Given the description of an element on the screen output the (x, y) to click on. 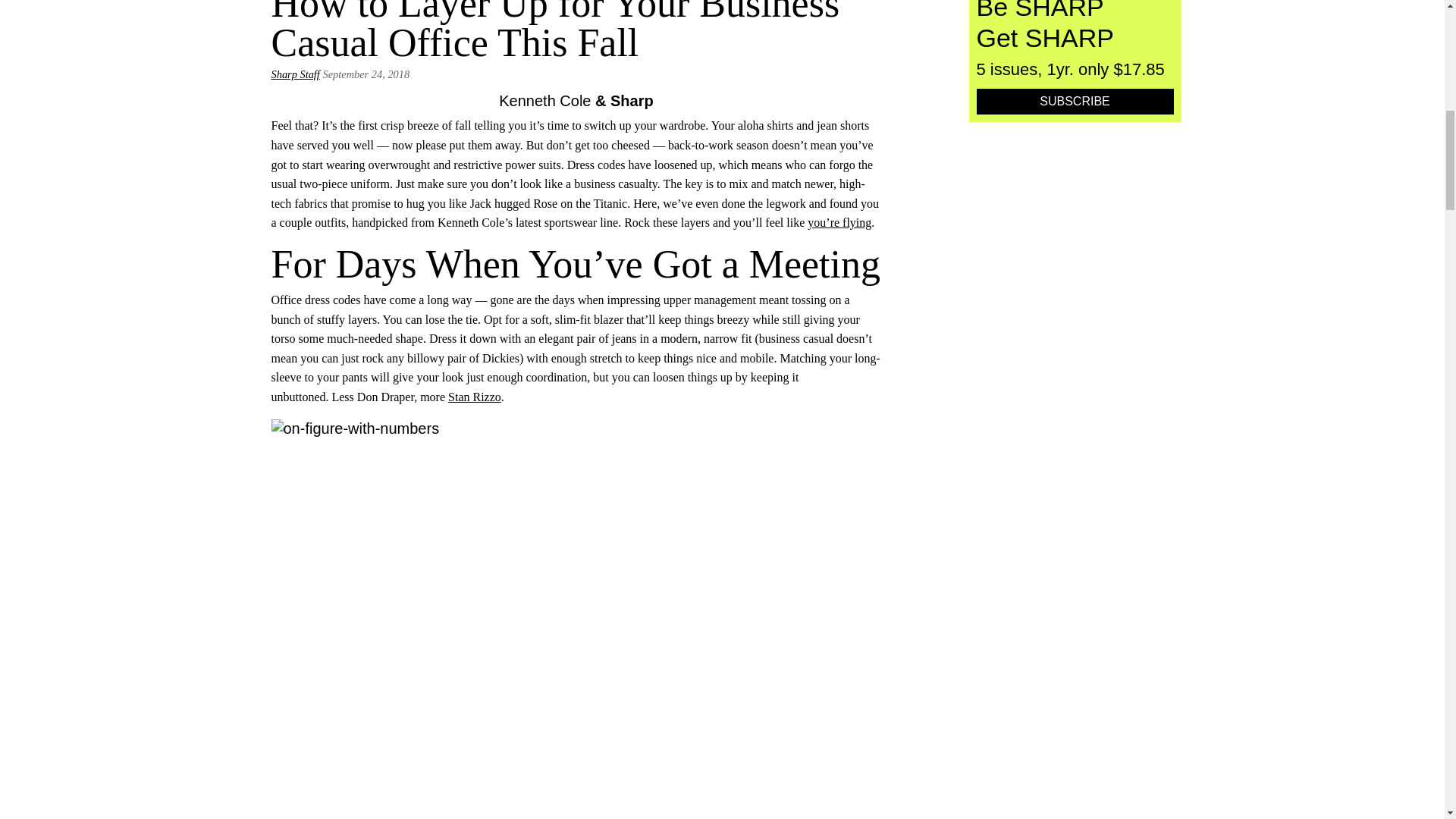
Posts by Sharp Staff (295, 73)
